Given the description of an element on the screen output the (x, y) to click on. 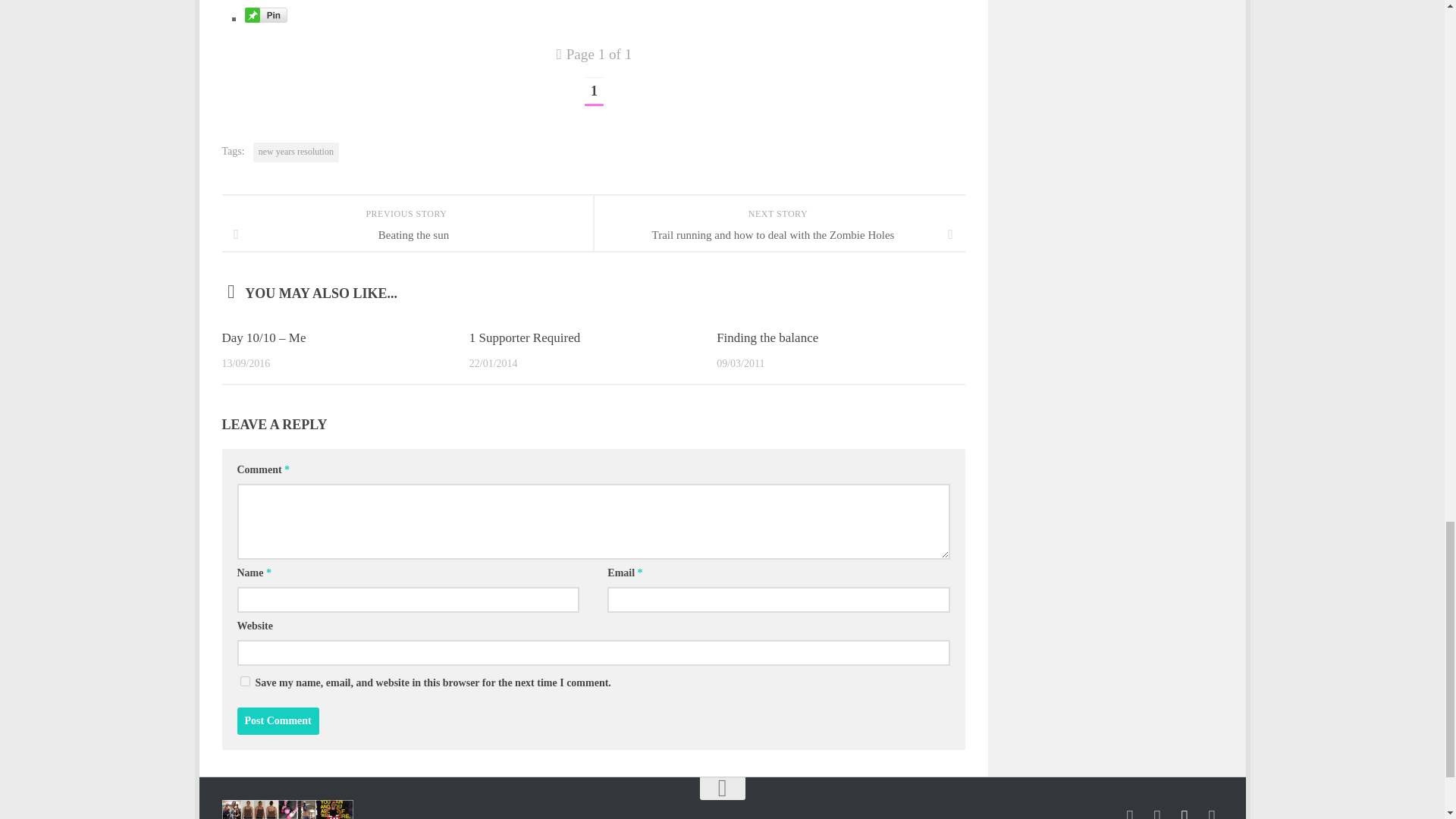
yes (244, 681)
Post Comment (276, 720)
